Given the description of an element on the screen output the (x, y) to click on. 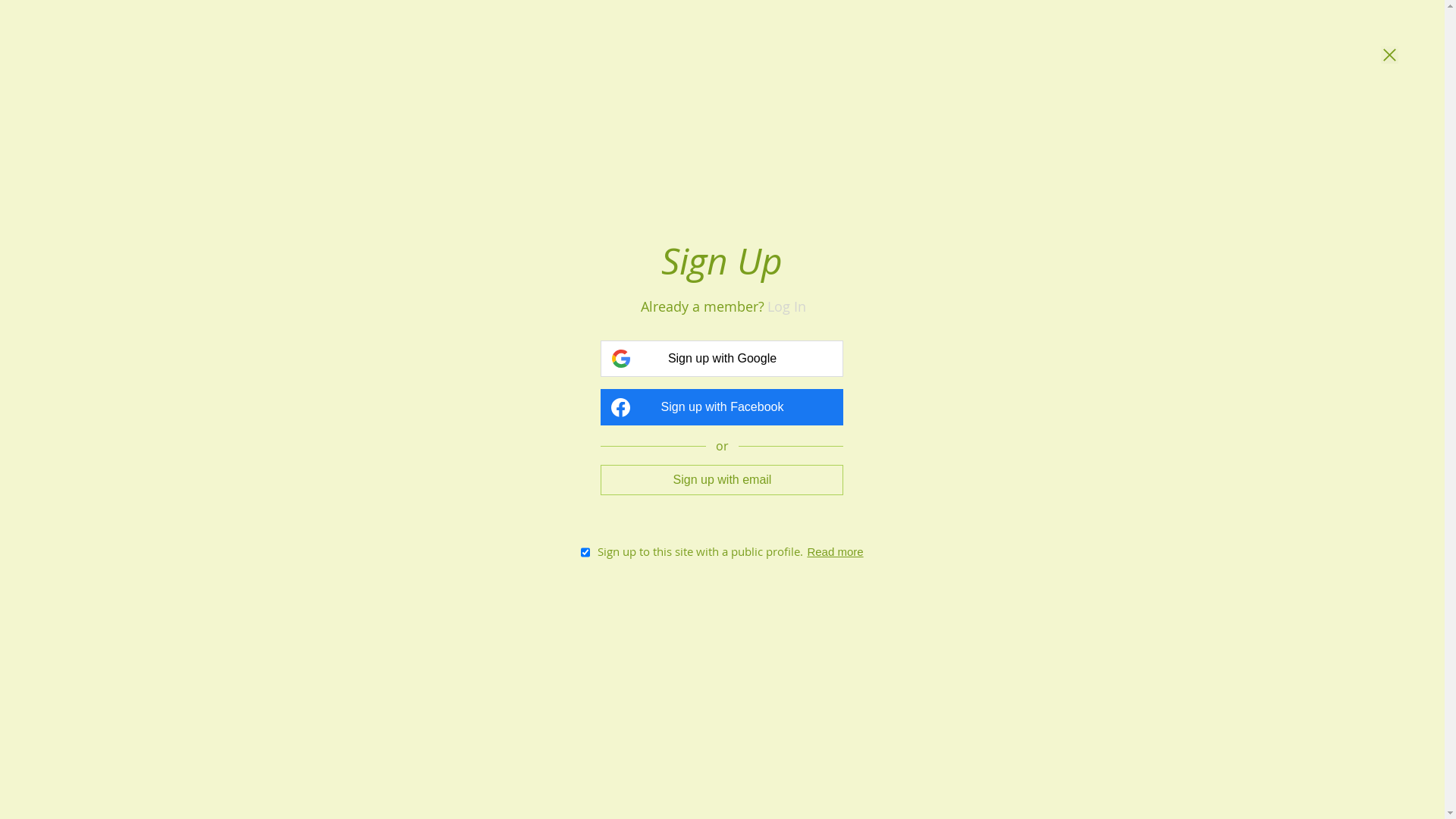
Sign up with Google Element type: text (721, 358)
Log In Element type: text (786, 306)
Read more Element type: text (834, 551)
Sign up with Facebook Element type: text (721, 407)
Sign up with email Element type: text (721, 479)
